Given the description of an element on the screen output the (x, y) to click on. 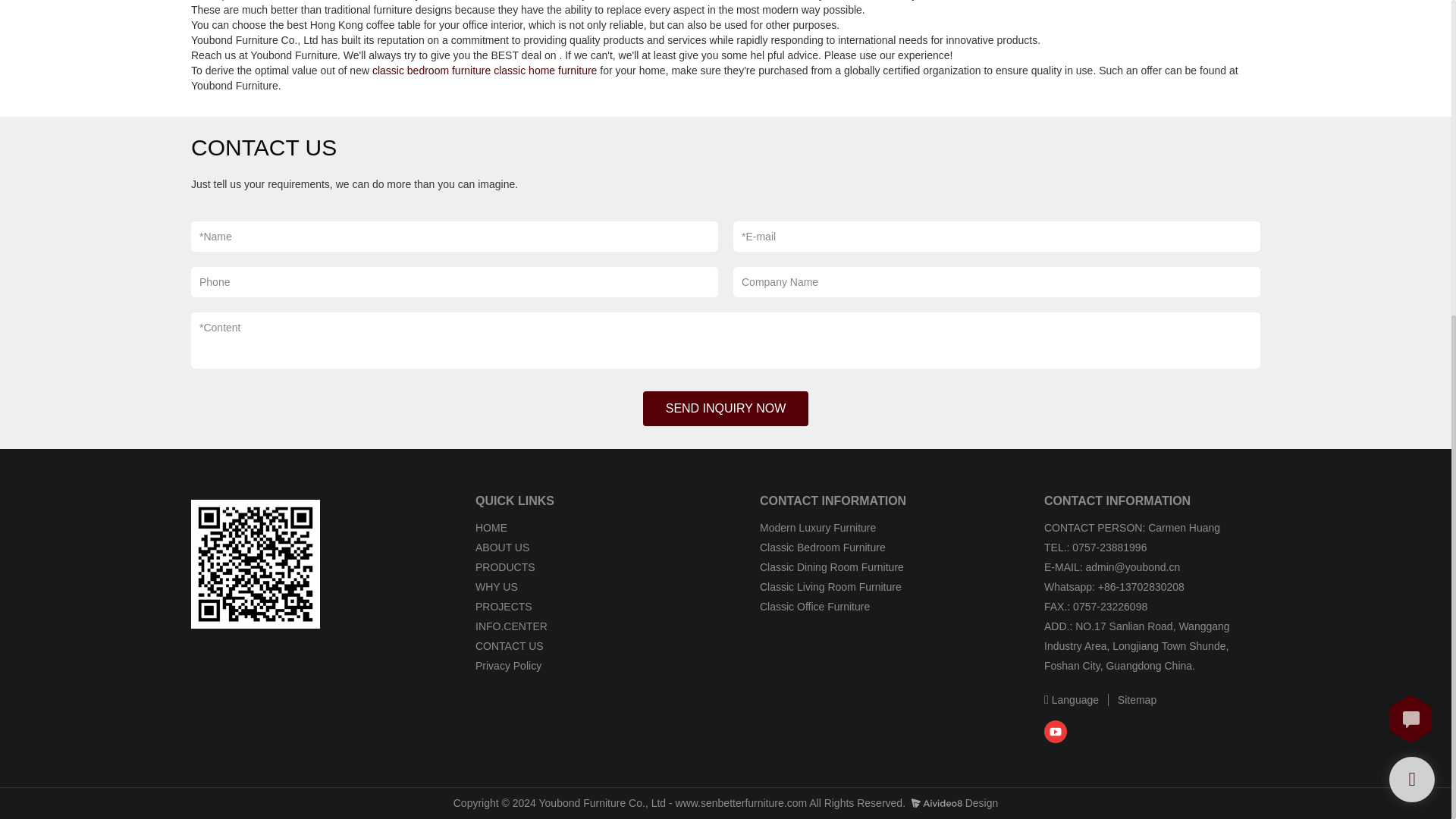
classic home furniture (544, 70)
CONTACT US (509, 645)
PRODUCTS  (506, 567)
classic bedroom furniture (431, 70)
classic home furniture (544, 70)
ABOUT US (502, 547)
WHY US (497, 586)
Privacy Policy (508, 665)
youtube (1055, 731)
PROJECTS  (505, 606)
